Given the description of an element on the screen output the (x, y) to click on. 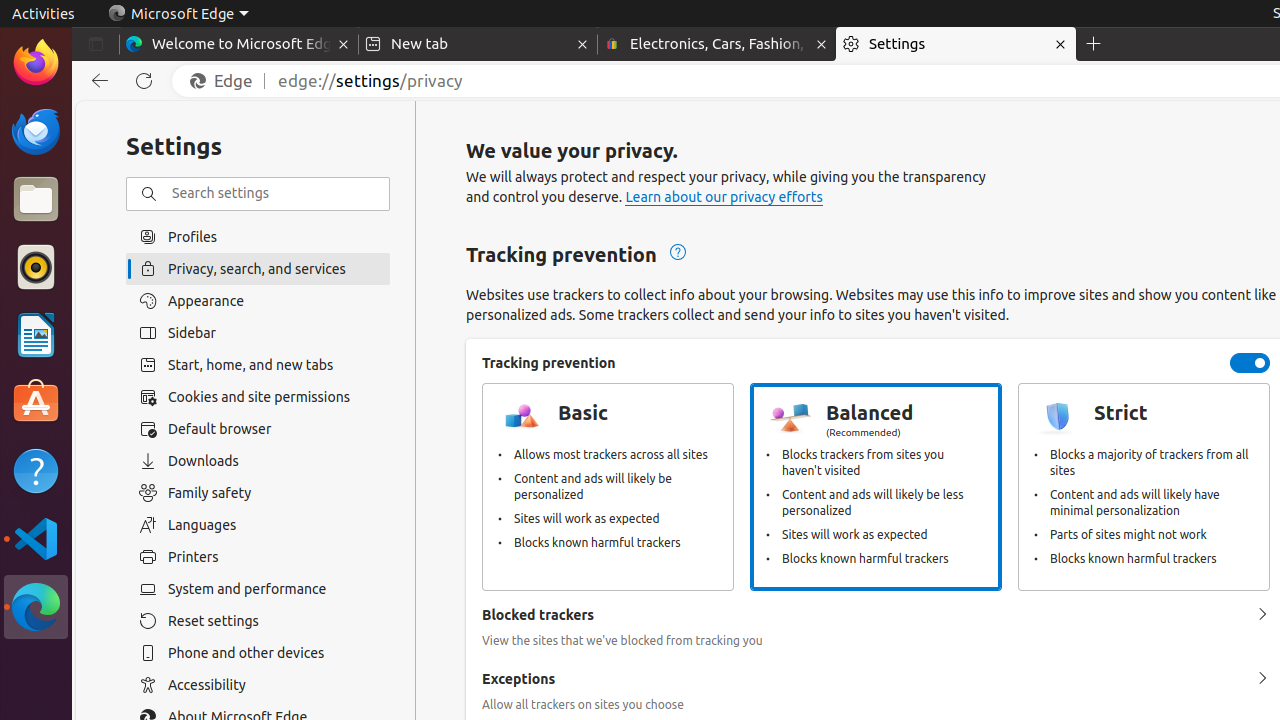
Languages Element type: tree-item (258, 525)
Back Element type: push-button (96, 81)
Cookies and site permissions Element type: tree-item (258, 397)
Sidebar Element type: tree-item (258, 333)
LibreOffice Writer Element type: push-button (36, 334)
